Given the description of an element on the screen output the (x, y) to click on. 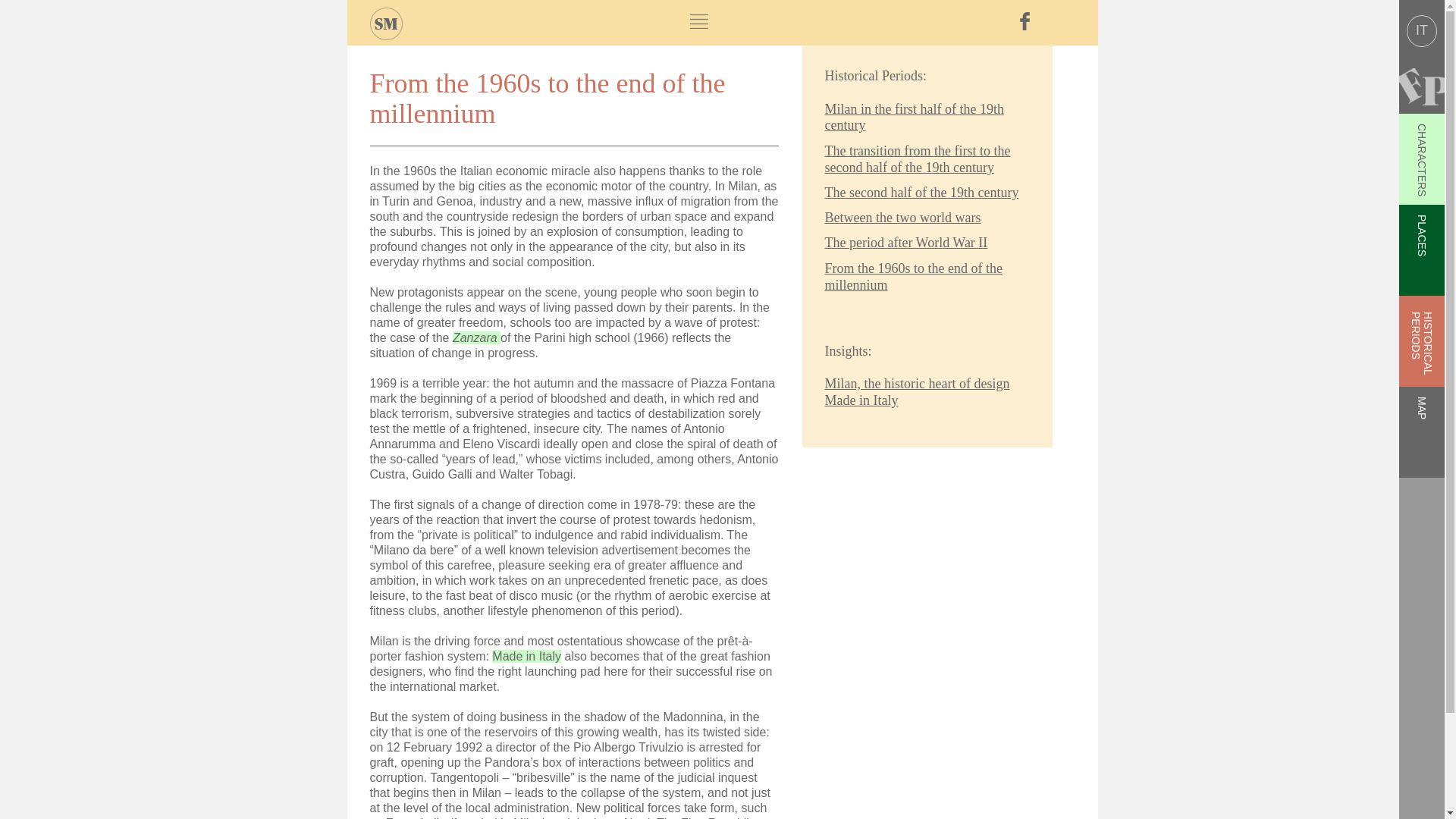
Milan, the historic heart of design Made in Italy (917, 391)
Milan in the first half of the 19th century (914, 117)
Between the two world wars (903, 217)
Storie Milanesi (386, 23)
From the 1960s to the end of the millennium (914, 276)
Informations (698, 21)
IT (1421, 30)
The second half of the 19th century (922, 192)
Milan, the historic heart of design Made in Italy (526, 656)
